Given the description of an element on the screen output the (x, y) to click on. 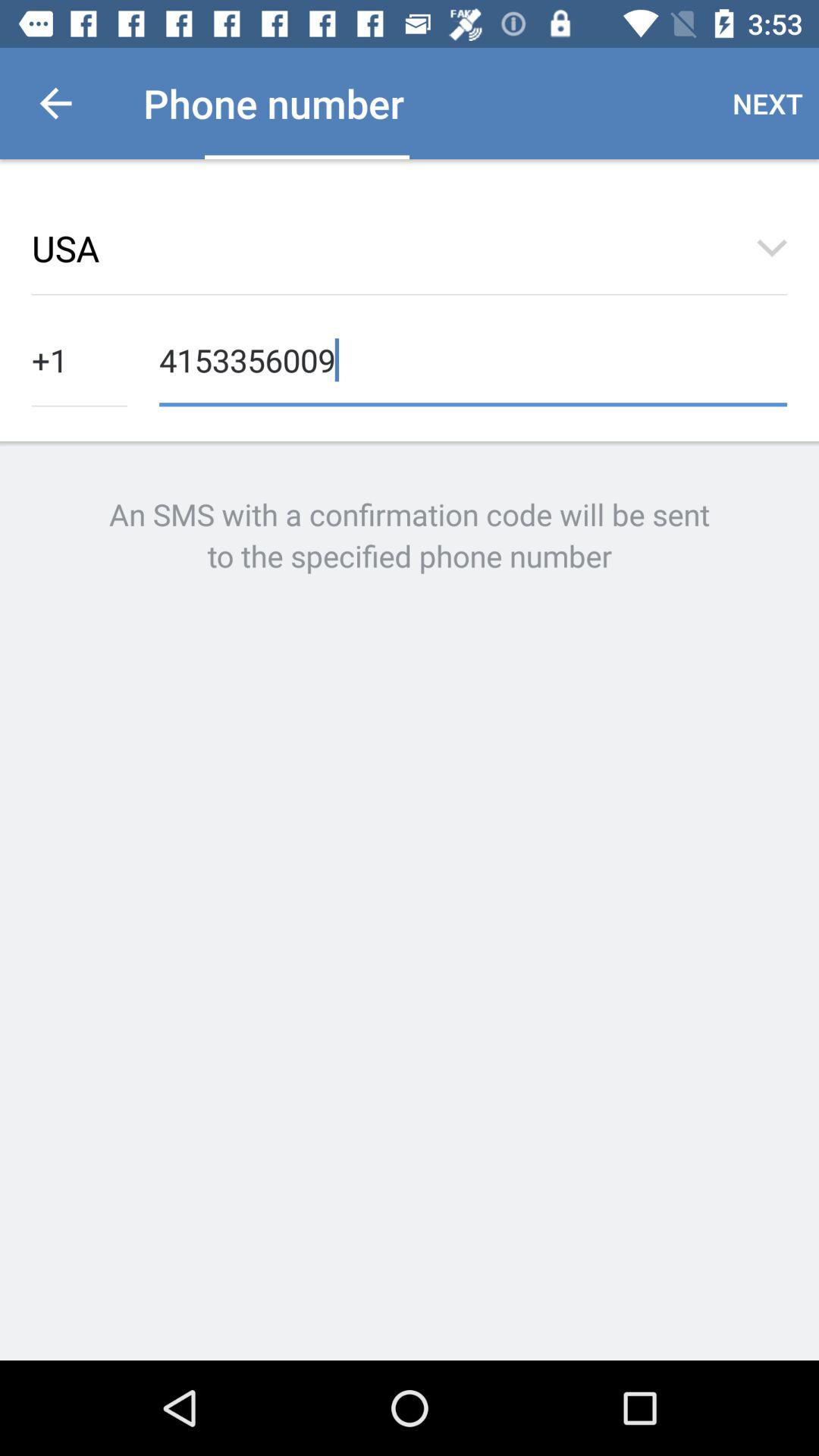
press the +1 (79, 358)
